Given the description of an element on the screen output the (x, y) to click on. 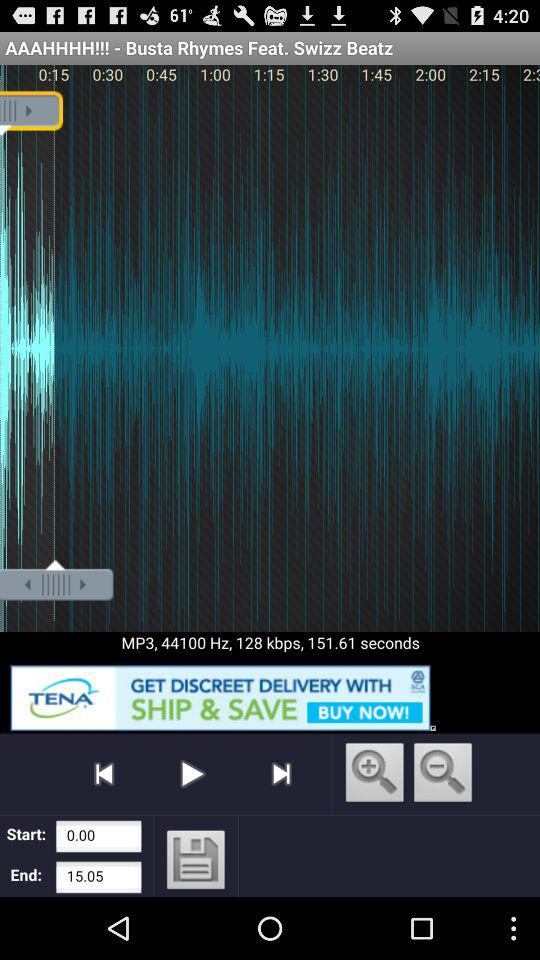
open advertisement (270, 693)
